Given the description of an element on the screen output the (x, y) to click on. 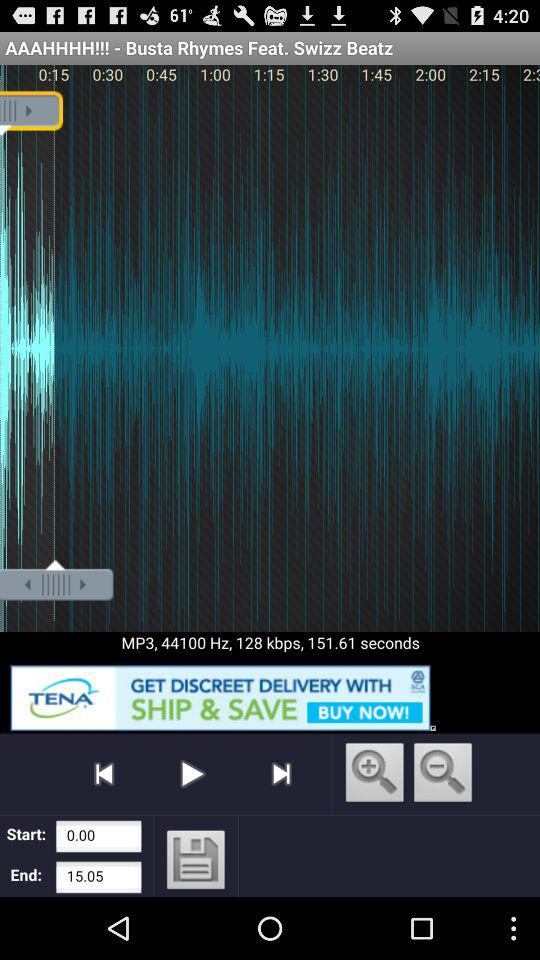
open advertisement (270, 693)
